Given the description of an element on the screen output the (x, y) to click on. 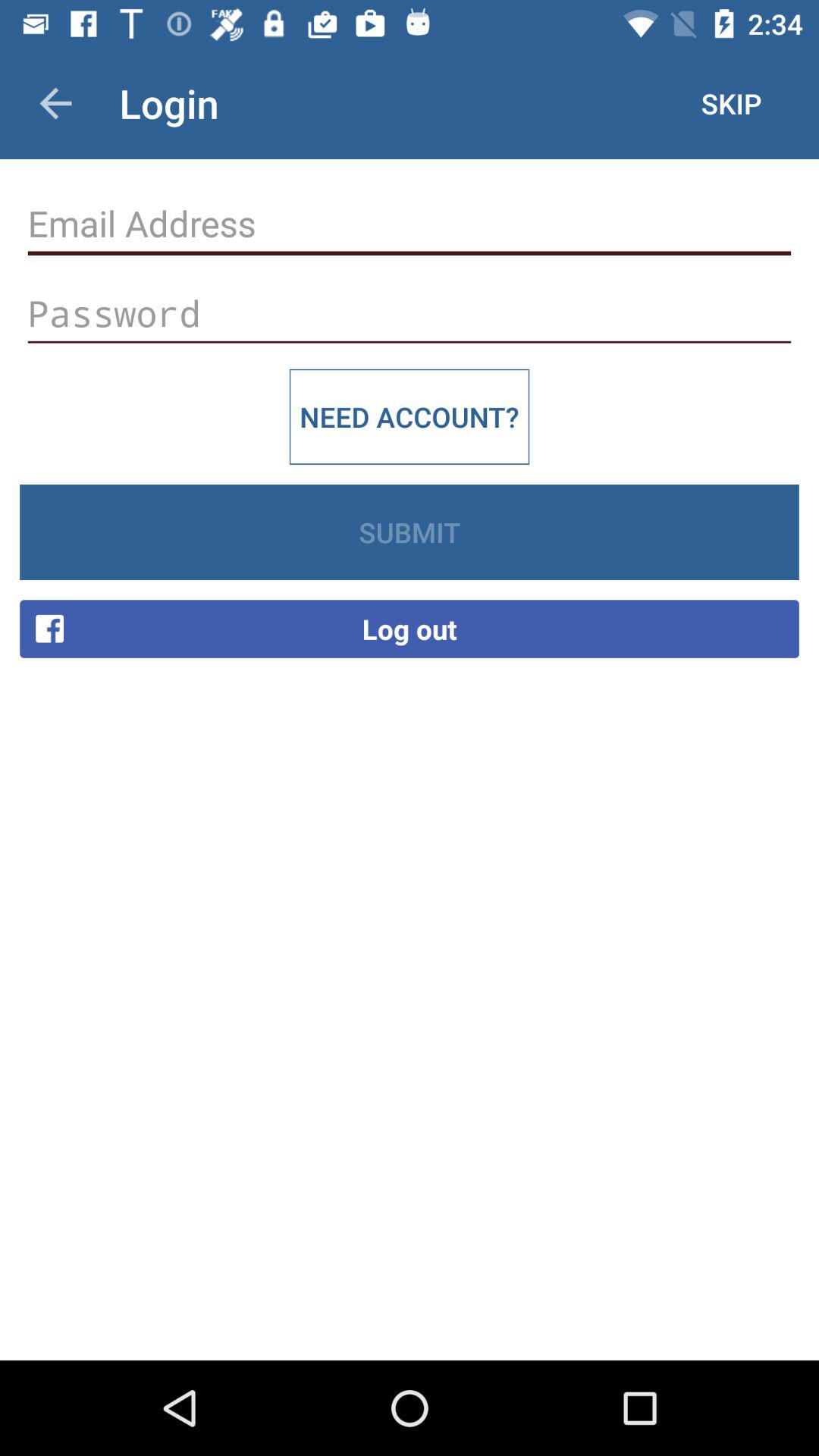
flip to need account? item (409, 416)
